Given the description of an element on the screen output the (x, y) to click on. 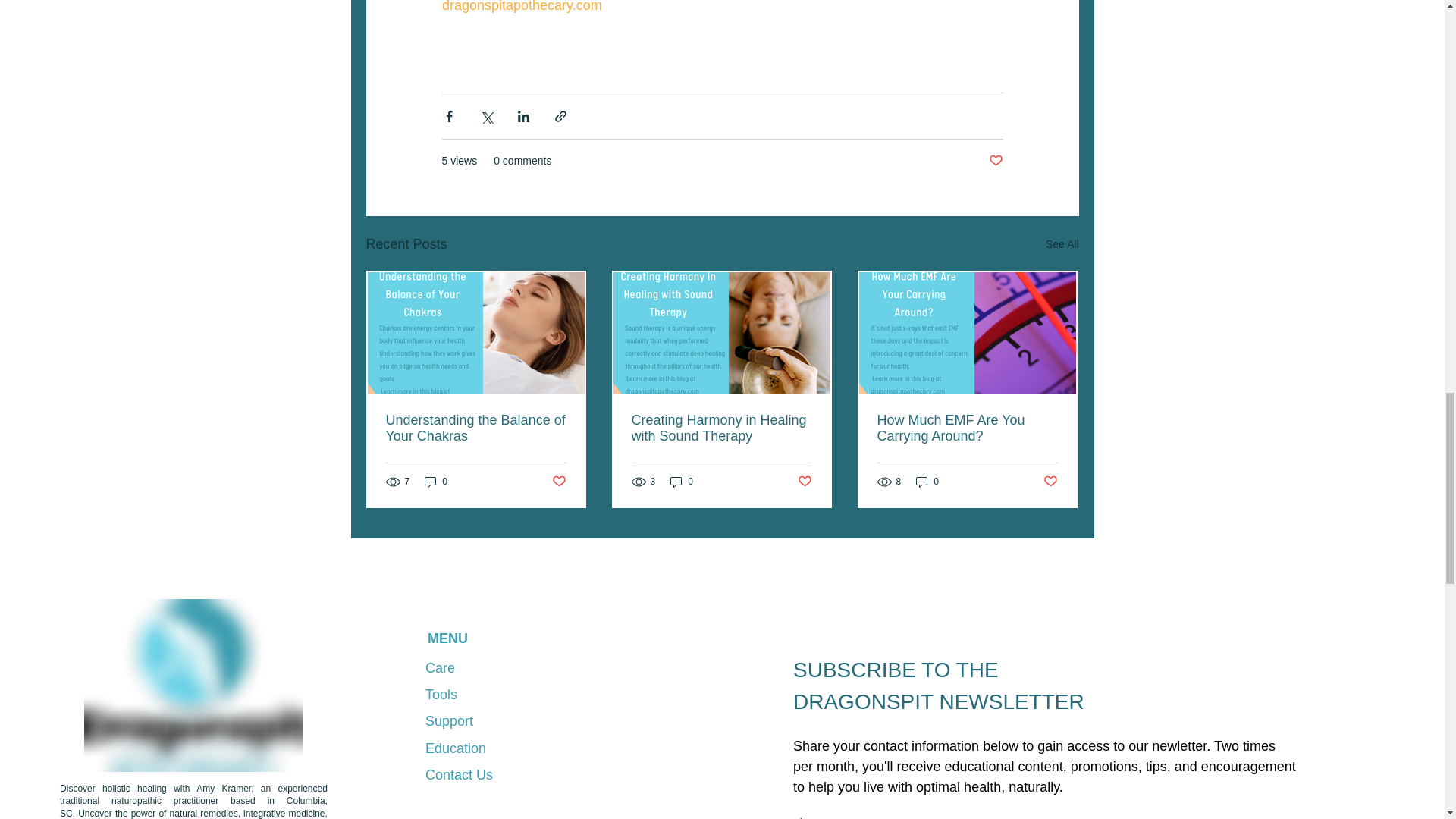
See All (1061, 244)
Understanding the Balance of Your Chakras (475, 428)
0 (435, 481)
0 (927, 481)
0 (681, 481)
Creating Harmony in Healing with Sound Therapy (720, 428)
Post not marked as liked (558, 481)
Post not marked as liked (804, 481)
dragonspitapothecary.com (521, 6)
Post not marked as liked (995, 160)
How Much EMF Are You Carrying Around? (966, 428)
